Given the description of an element on the screen output the (x, y) to click on. 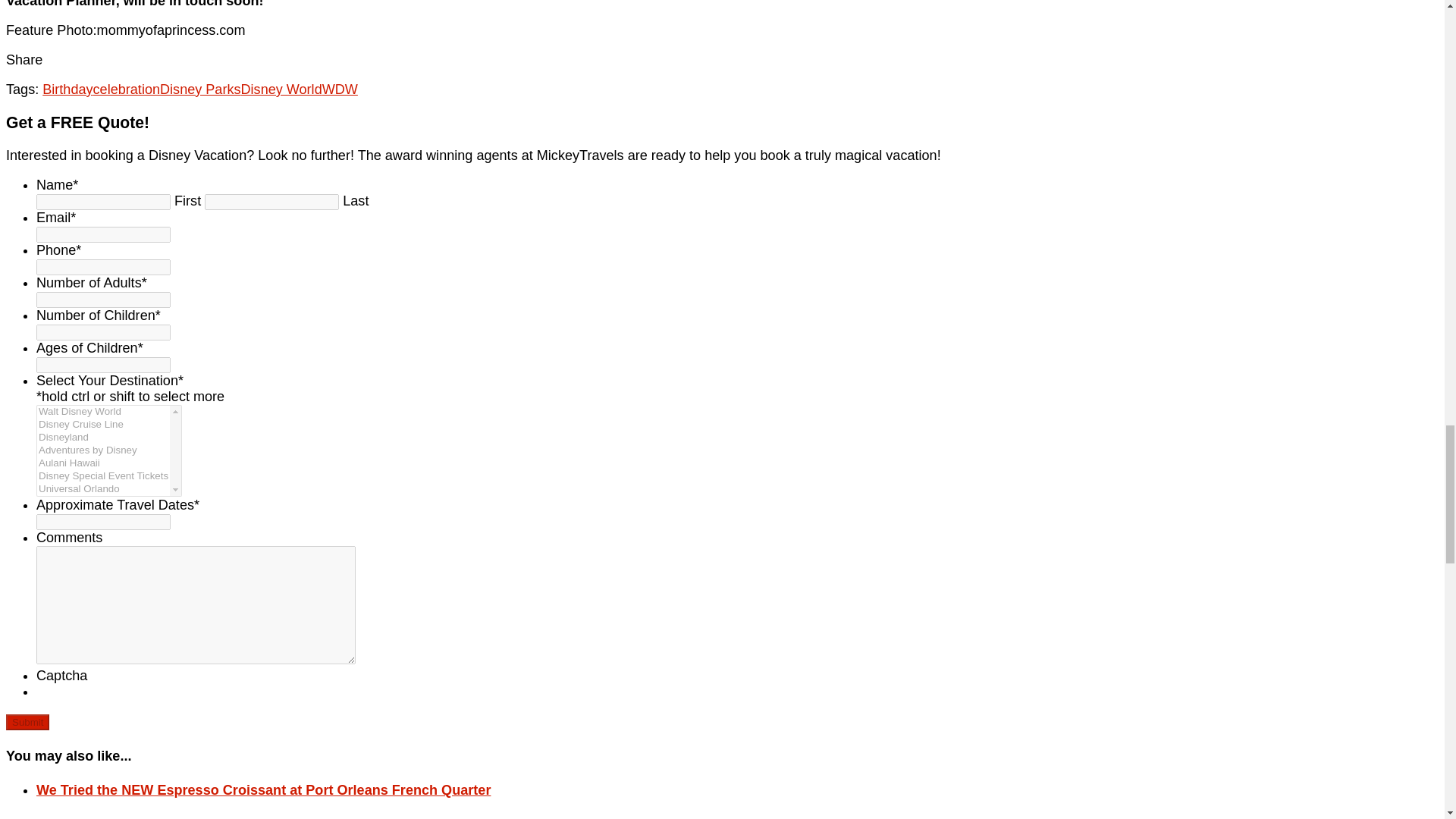
Submit (27, 722)
